Given the description of an element on the screen output the (x, y) to click on. 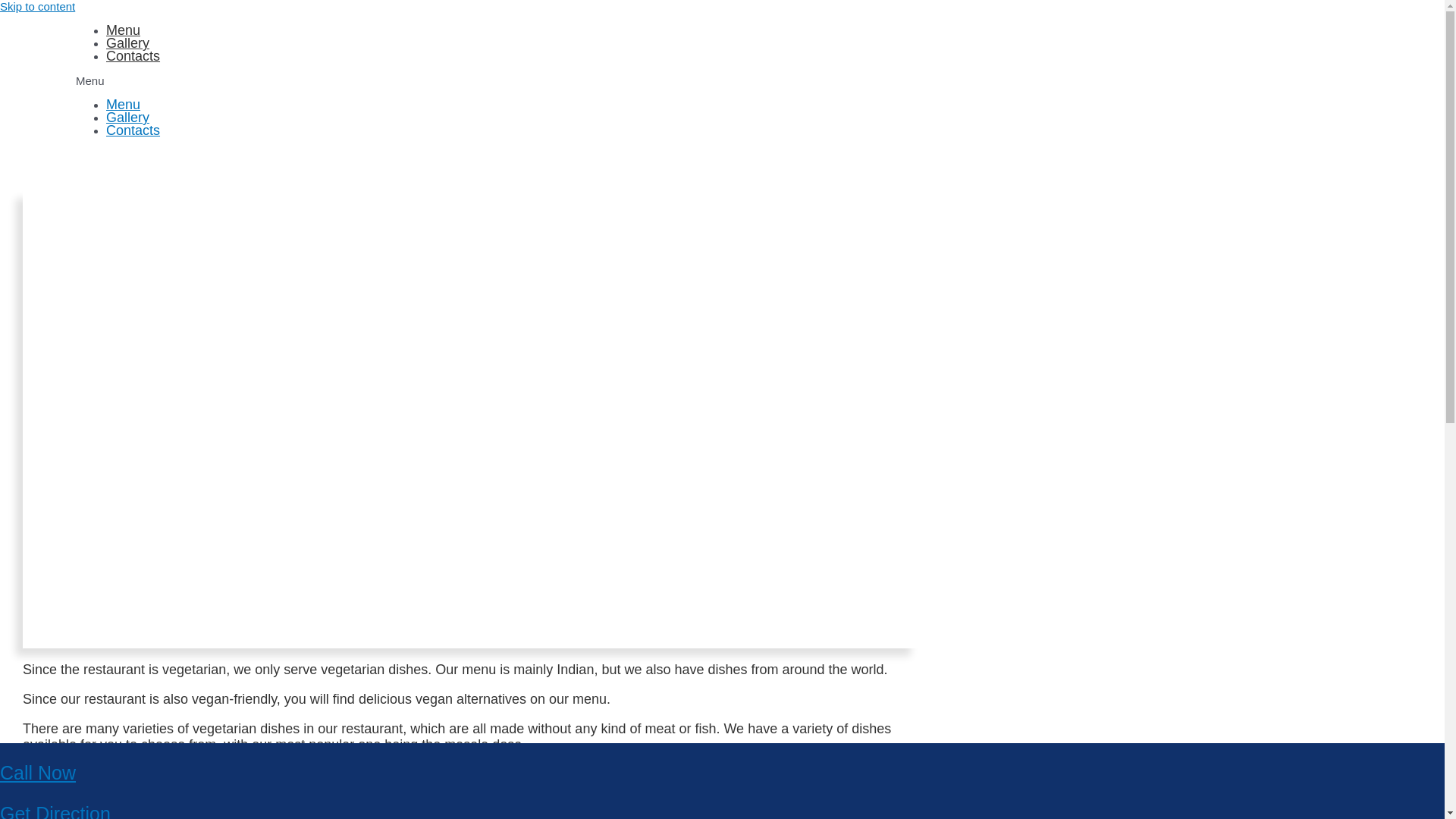
Contacts (133, 130)
Gallery (127, 43)
Get Direction (55, 811)
Menu (122, 29)
Contacts (133, 55)
Gallery (127, 117)
Skip to content (37, 6)
Menu (122, 104)
Call Now (37, 772)
